Given the description of an element on the screen output the (x, y) to click on. 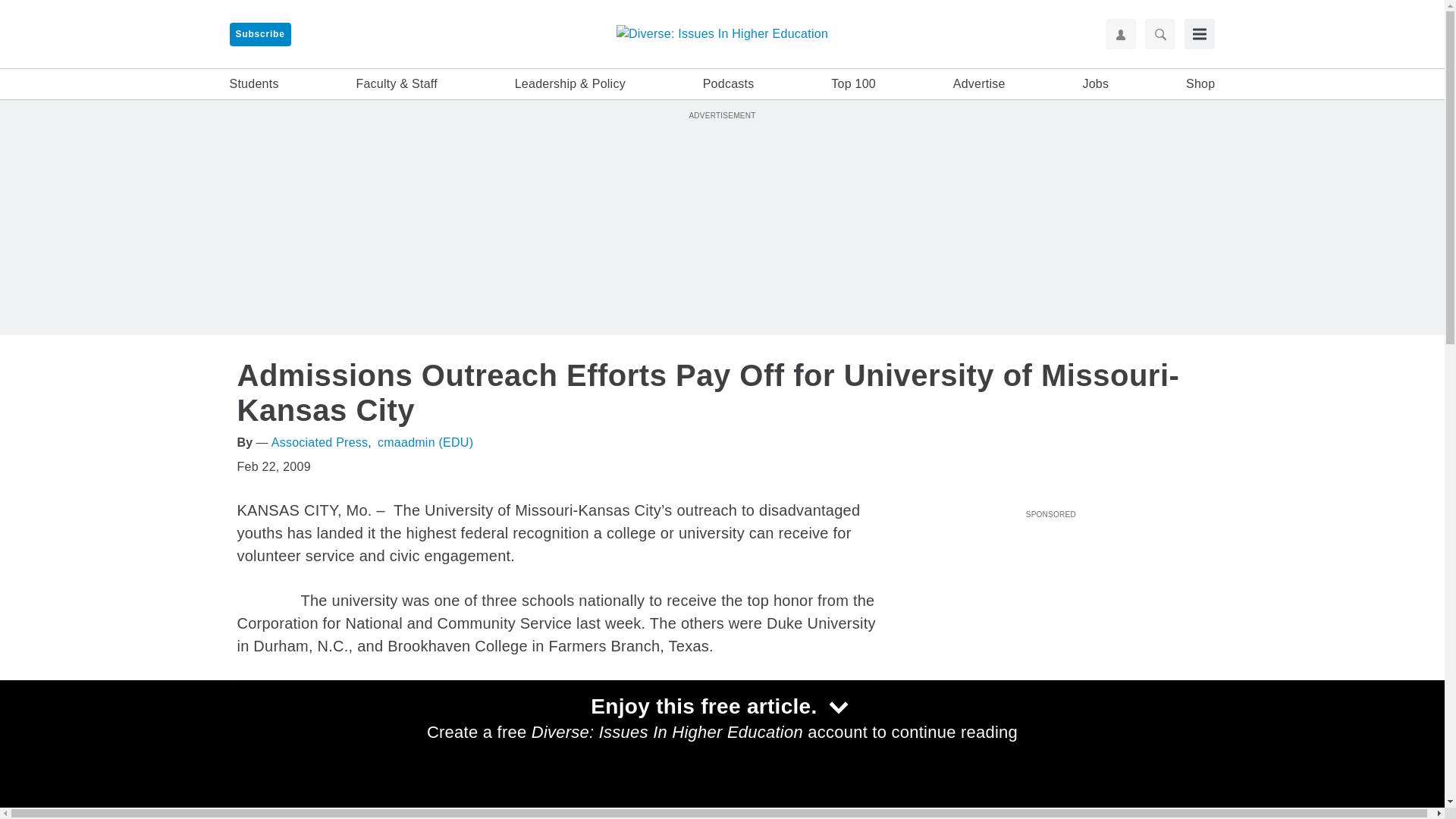
Students (253, 84)
Podcasts (728, 84)
Top 100 (853, 84)
Advertise (979, 84)
Jobs (1094, 84)
Shop (1200, 84)
Subscribe (258, 33)
Youtube Player (1050, 609)
Subscribe (258, 33)
